Given the description of an element on the screen output the (x, y) to click on. 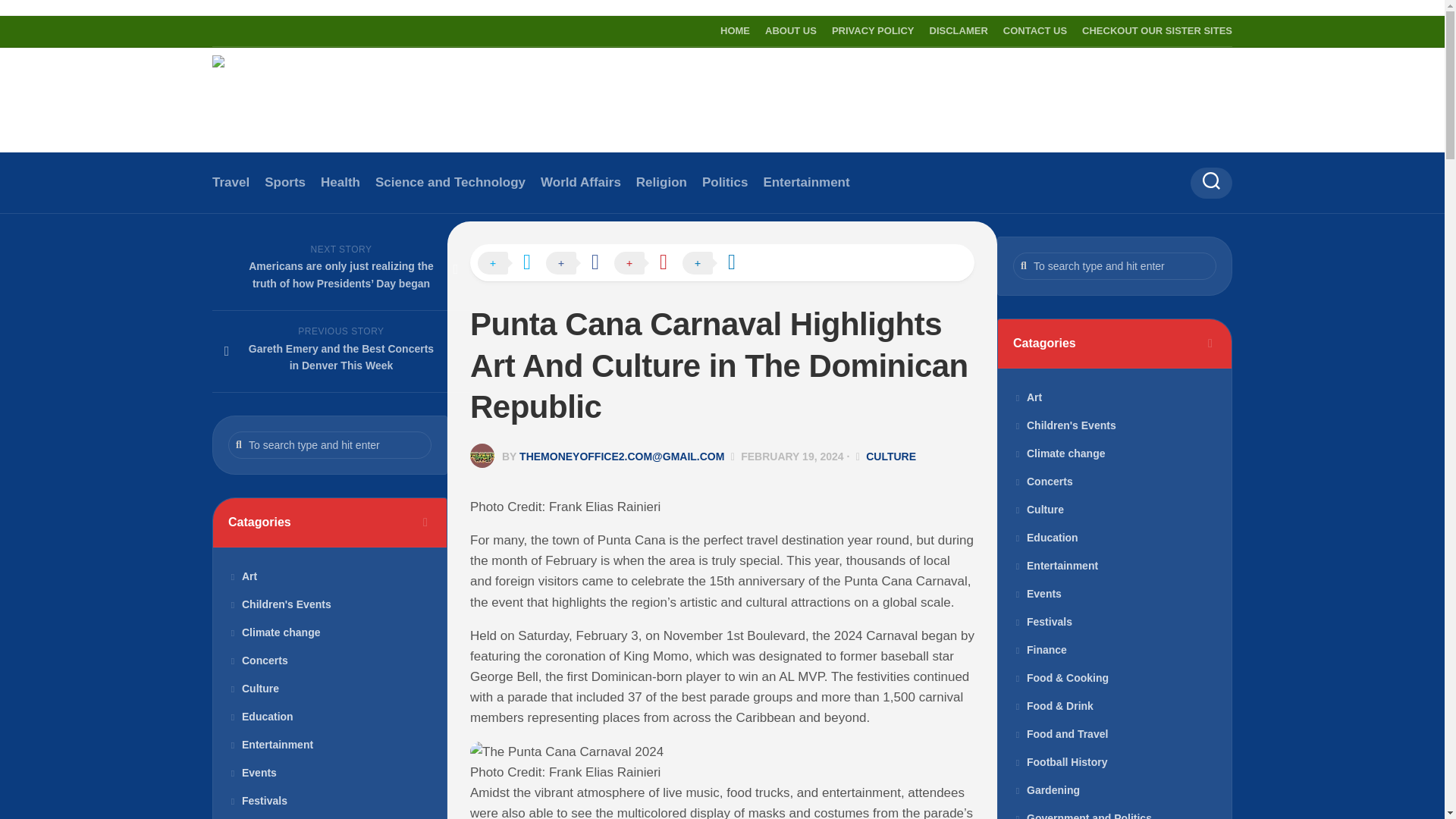
Share on Pinterest (648, 263)
DISCLAMER (959, 30)
ABOUT US (790, 30)
HOME (734, 30)
Share on X (511, 263)
Travel (230, 182)
CULTURE (890, 456)
Science and Technology (450, 182)
To search type and hit enter (329, 444)
CONTACT US (1035, 30)
Sports (284, 182)
Religion (661, 182)
To search type and hit enter (1114, 266)
To search type and hit enter (329, 444)
To search type and hit enter (1114, 266)
